Given the description of an element on the screen output the (x, y) to click on. 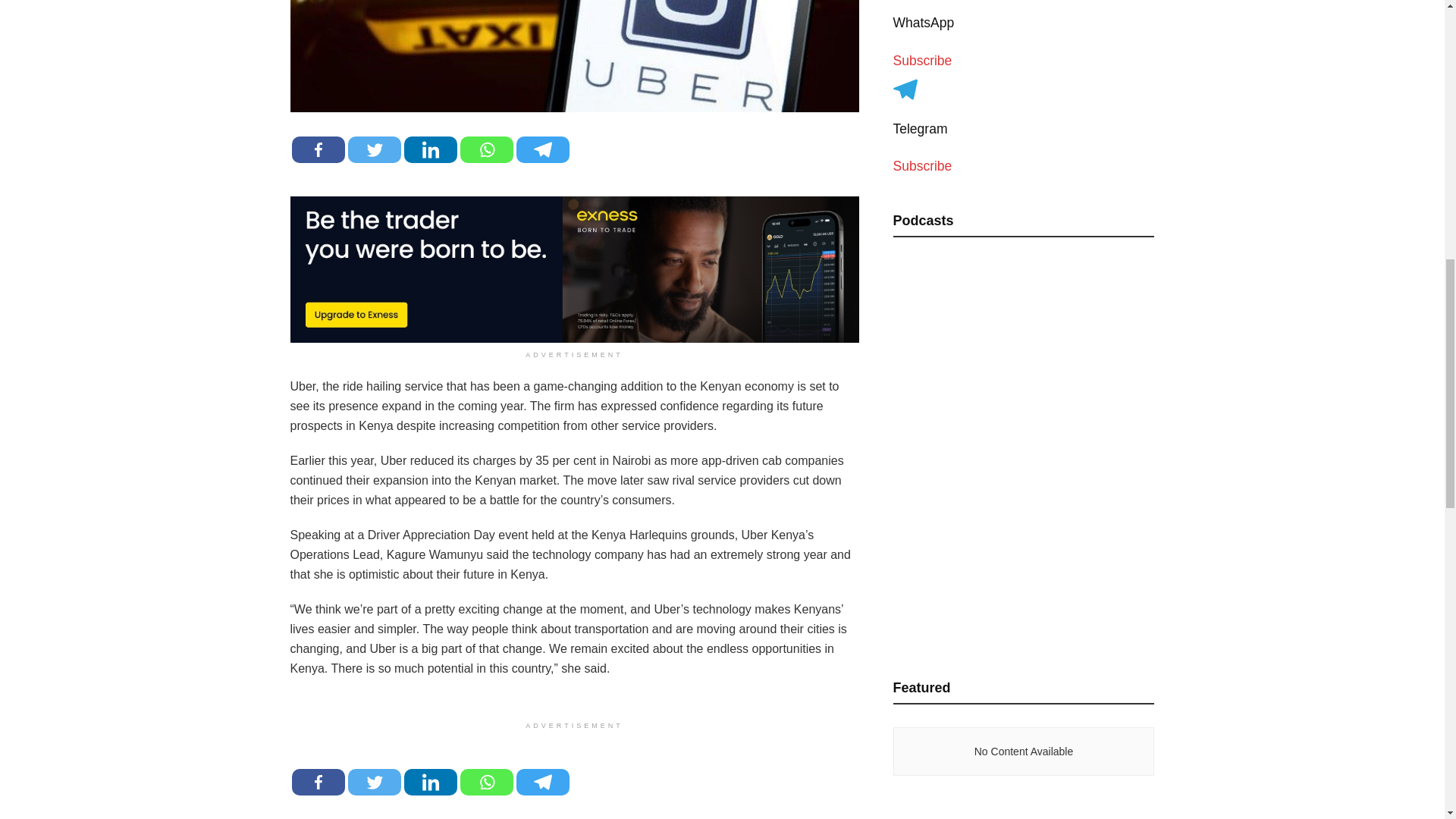
Twitter (373, 782)
Twitter (373, 149)
Telegram (542, 149)
Linkedin (430, 782)
Whatsapp (486, 149)
Linkedin (430, 149)
Whatsapp (486, 782)
Facebook (317, 149)
Facebook (317, 782)
Telegram (542, 782)
